Given the description of an element on the screen output the (x, y) to click on. 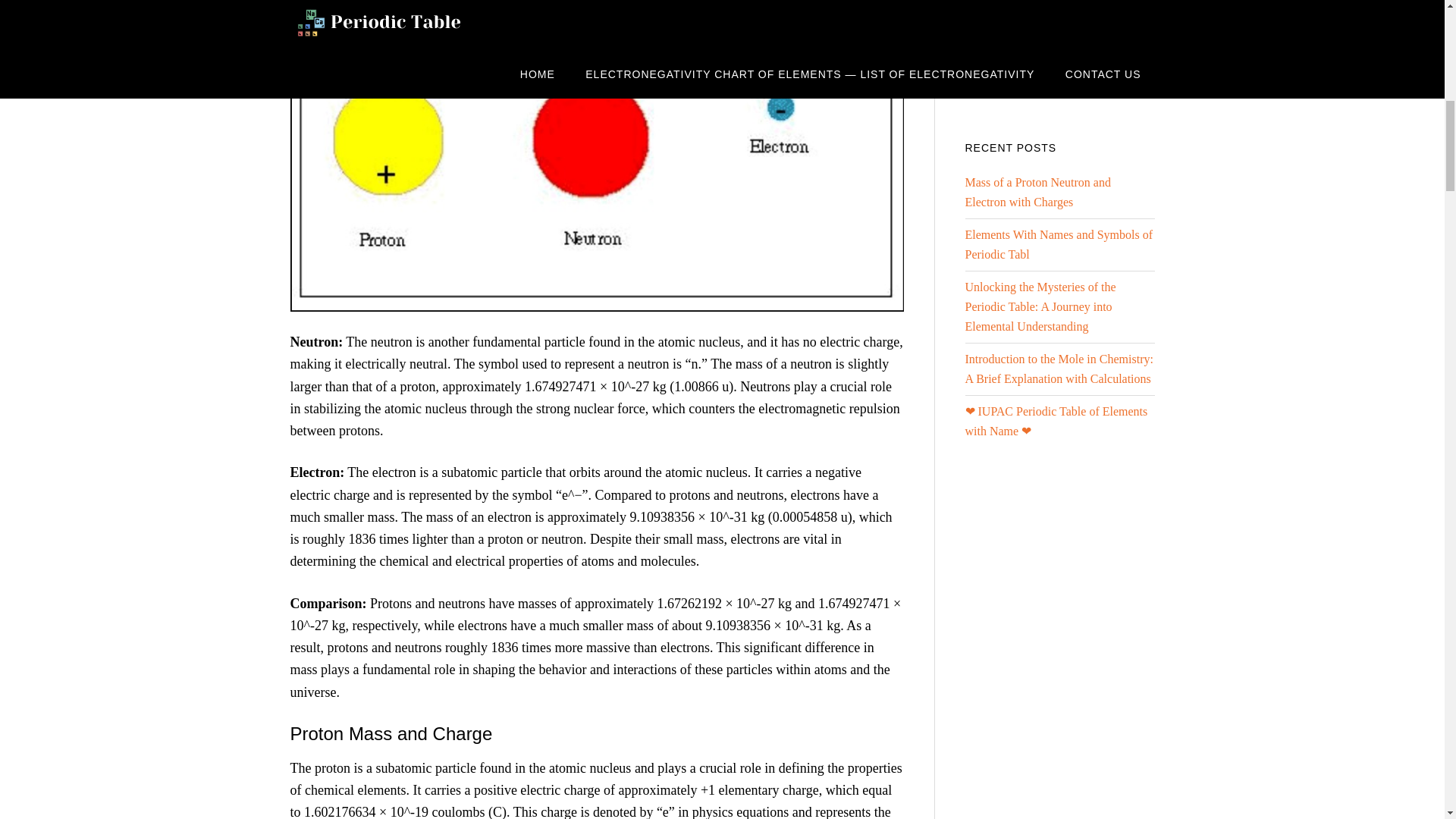
Mass of a Proton Neutron and Electron with Charges (1036, 192)
Elements With Names and Symbols of Periodic Tabl (1057, 244)
